Given the description of an element on the screen output the (x, y) to click on. 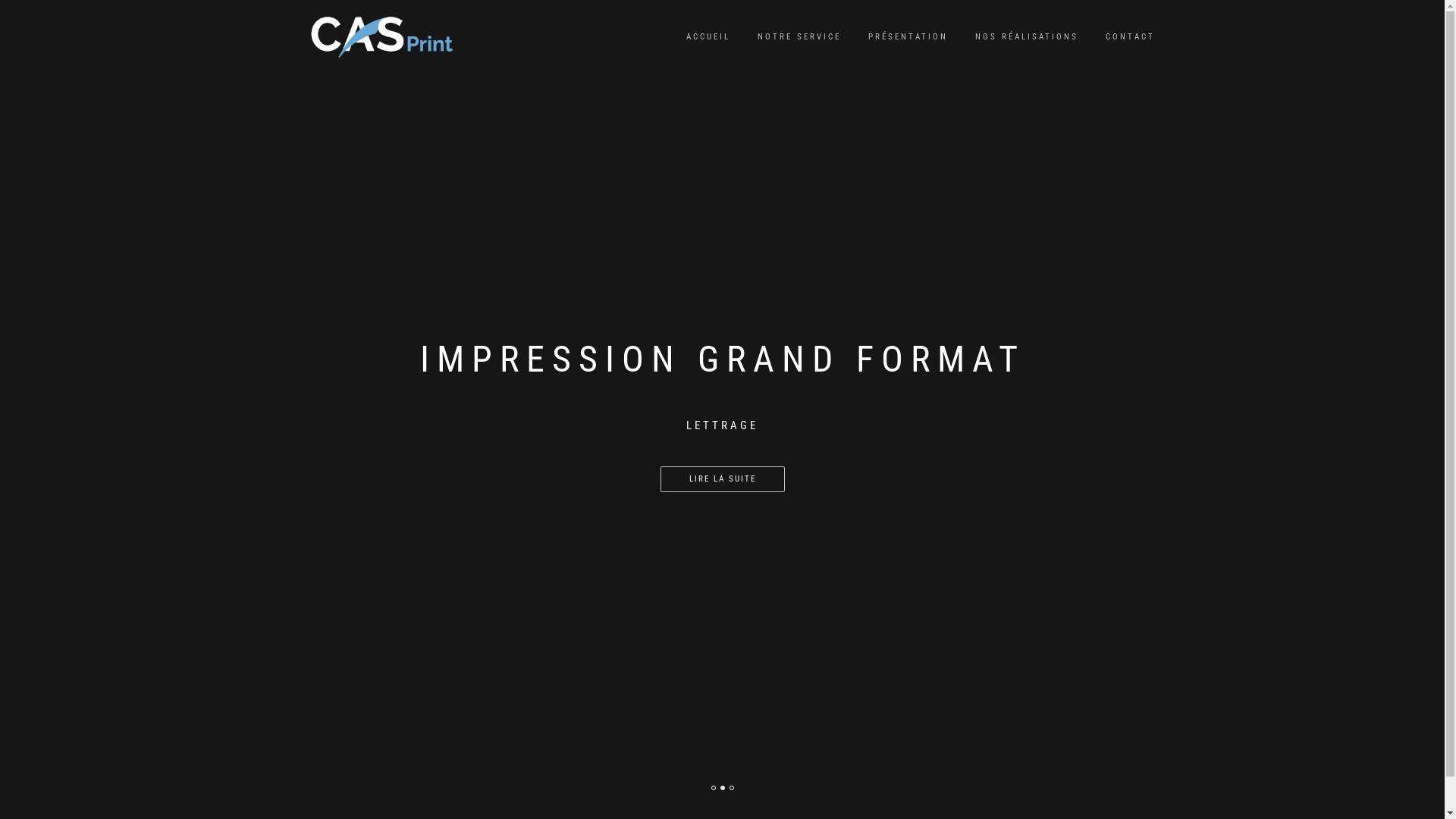
1 Element type: text (713, 787)
LIRE LA SUITE Element type: text (721, 479)
3 Element type: text (731, 787)
CONTACT Element type: text (1129, 37)
2 Element type: text (722, 787)
NOTRE SERVICE Element type: text (799, 37)
ACCUEIL Element type: text (707, 37)
